Given the description of an element on the screen output the (x, y) to click on. 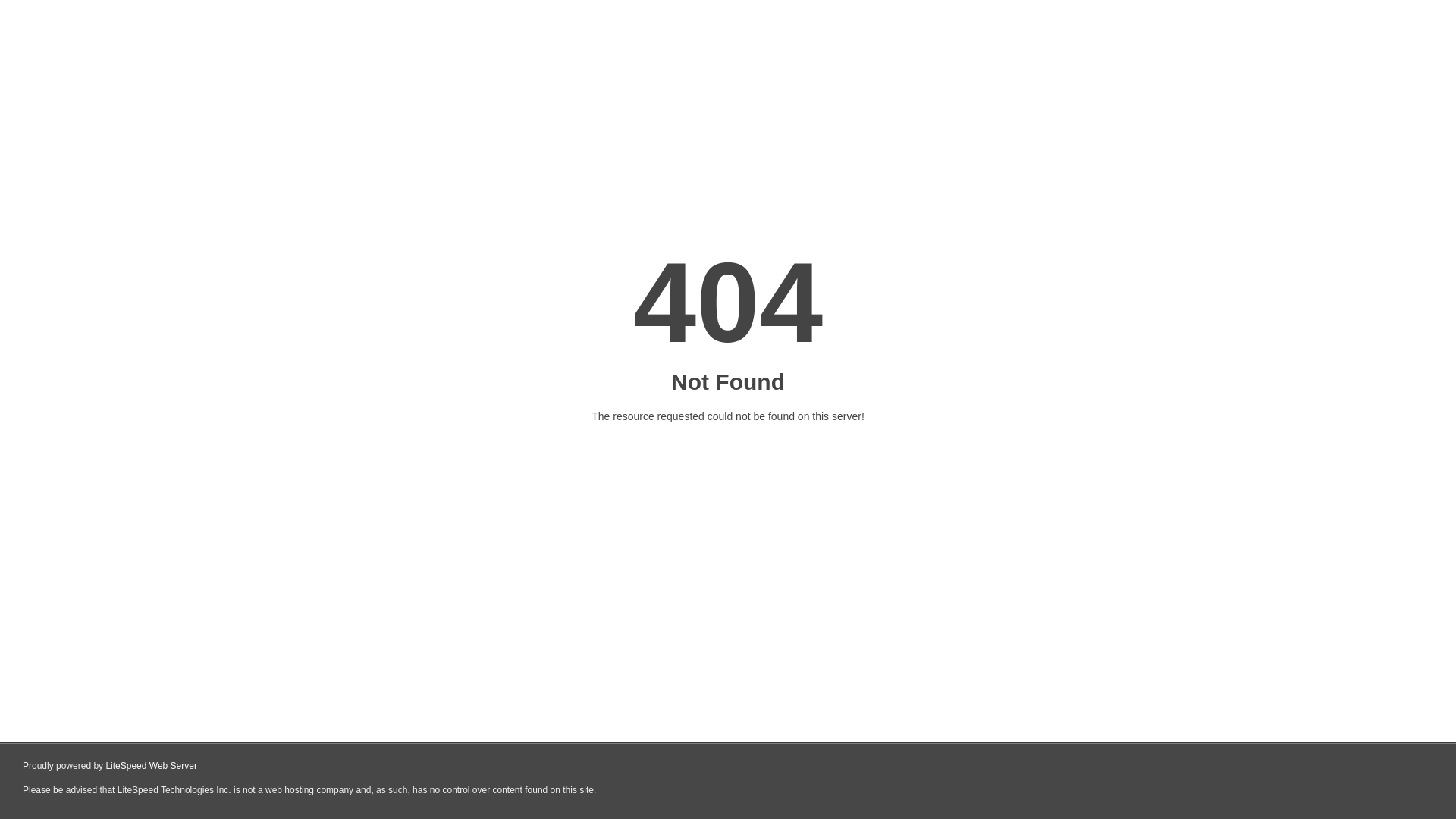
LiteSpeed Web Server Element type: text (151, 765)
